Given the description of an element on the screen output the (x, y) to click on. 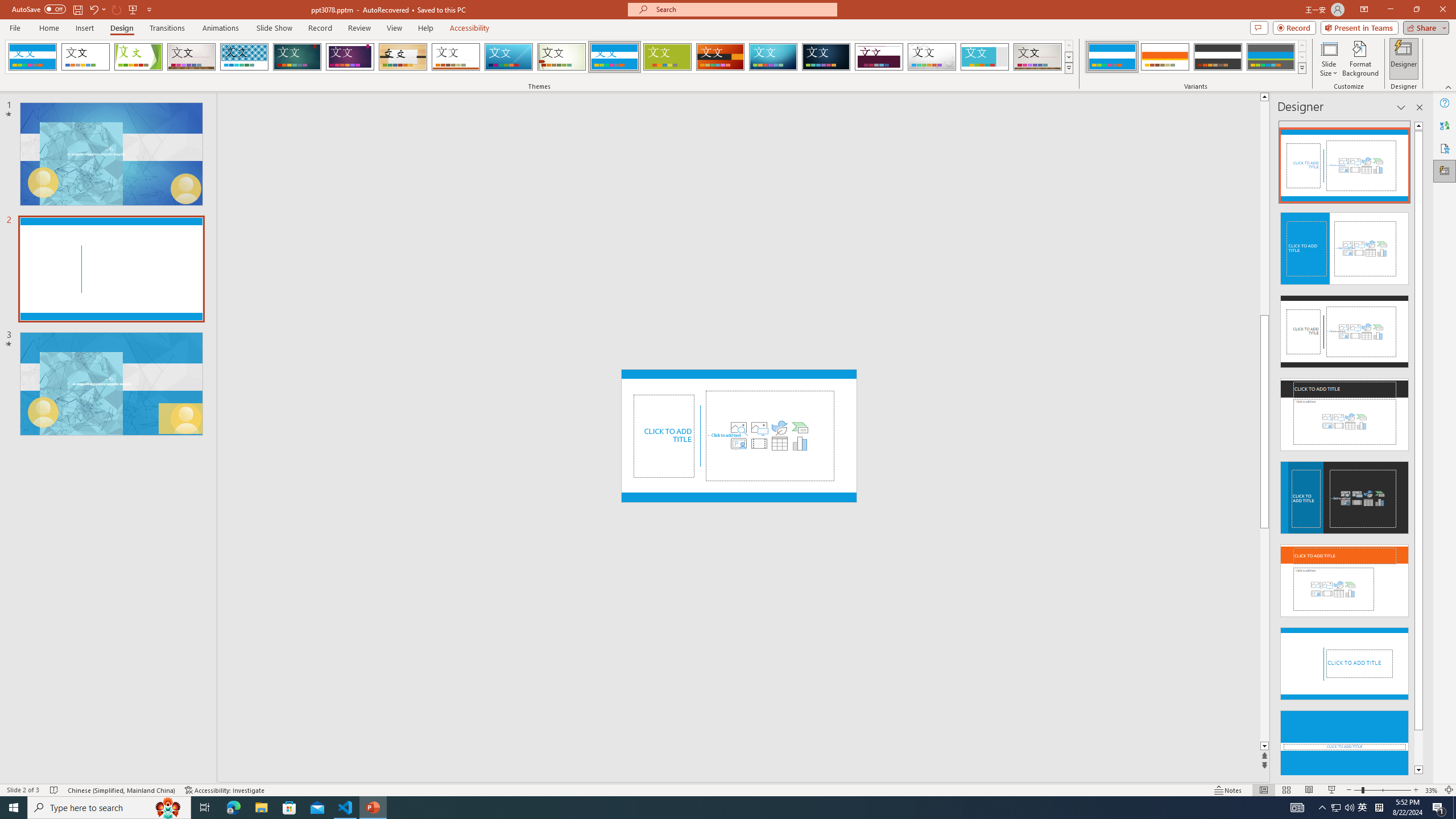
Slide Size (1328, 58)
Zoom 33% (1431, 790)
Insert Cameo (738, 443)
Retrospect (455, 56)
Insert Video (758, 443)
Format Background (1360, 58)
Slice (508, 56)
Ion Boardroom (350, 56)
Dividend (879, 56)
